Given the description of an element on the screen output the (x, y) to click on. 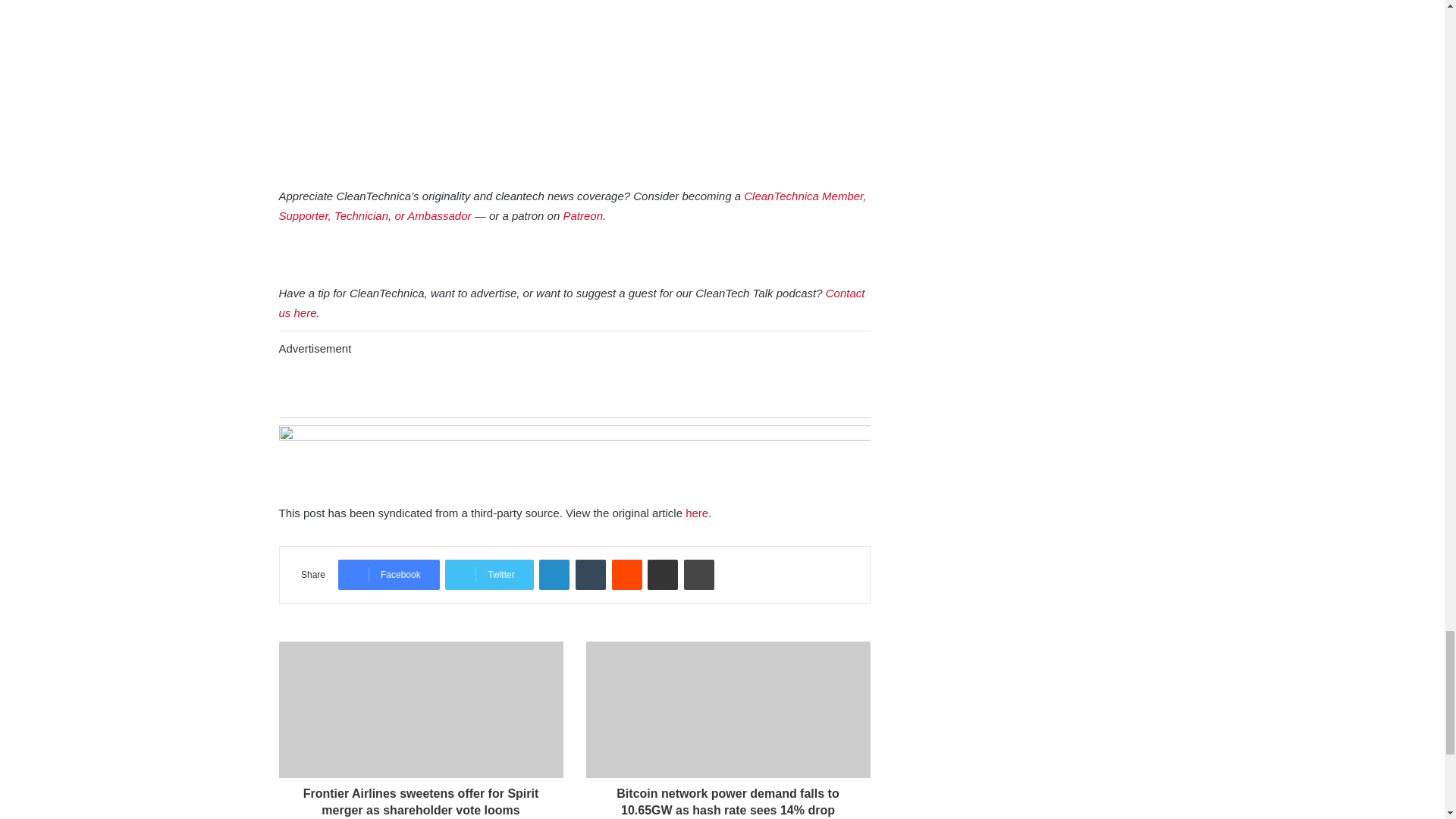
here (696, 512)
Patreon (582, 215)
Contact us here (571, 302)
CleanTechnica Member, Supporter, Technician, or Ambassador (572, 205)
